Given the description of an element on the screen output the (x, y) to click on. 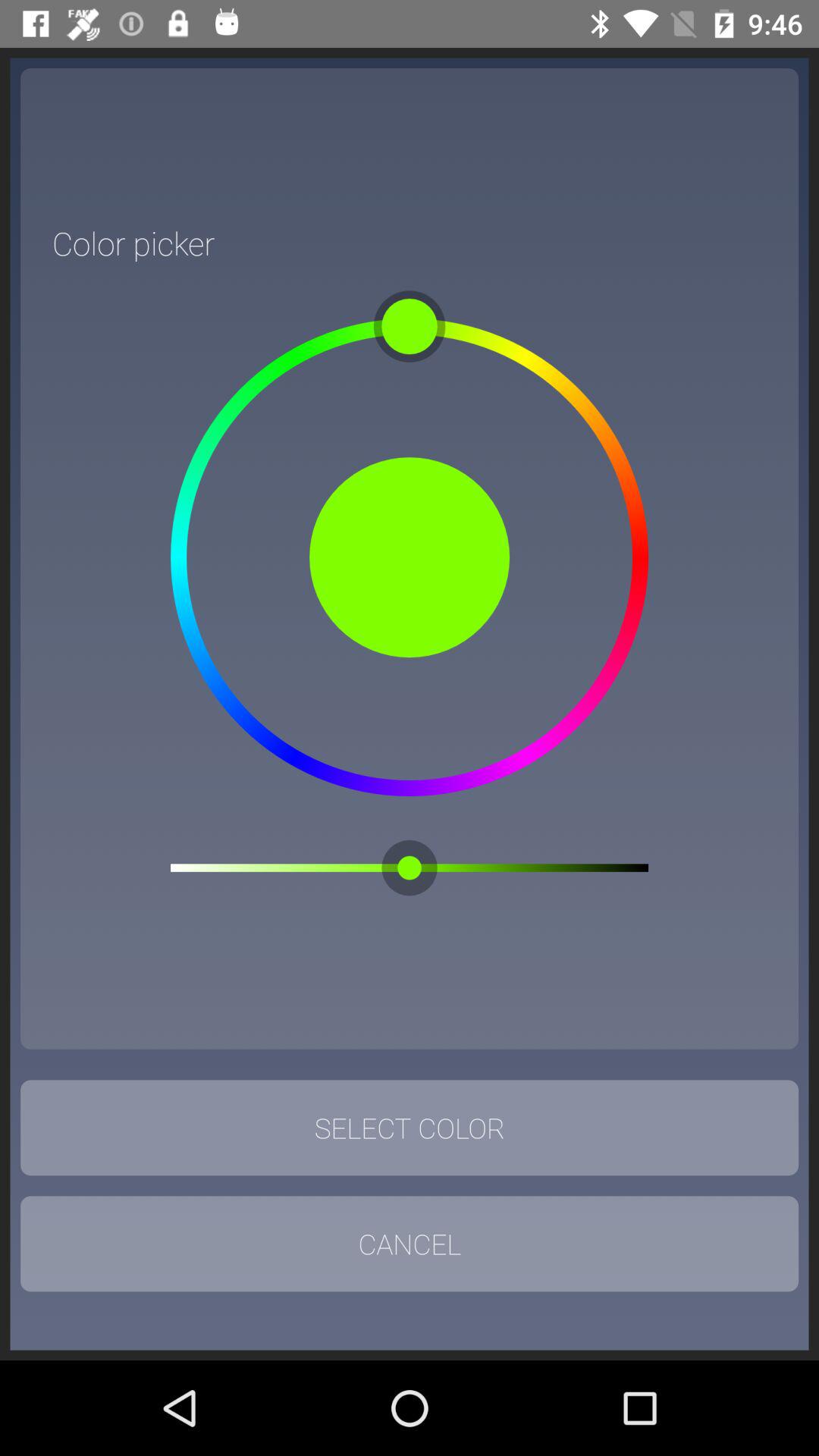
open select color item (409, 1127)
